Given the description of an element on the screen output the (x, y) to click on. 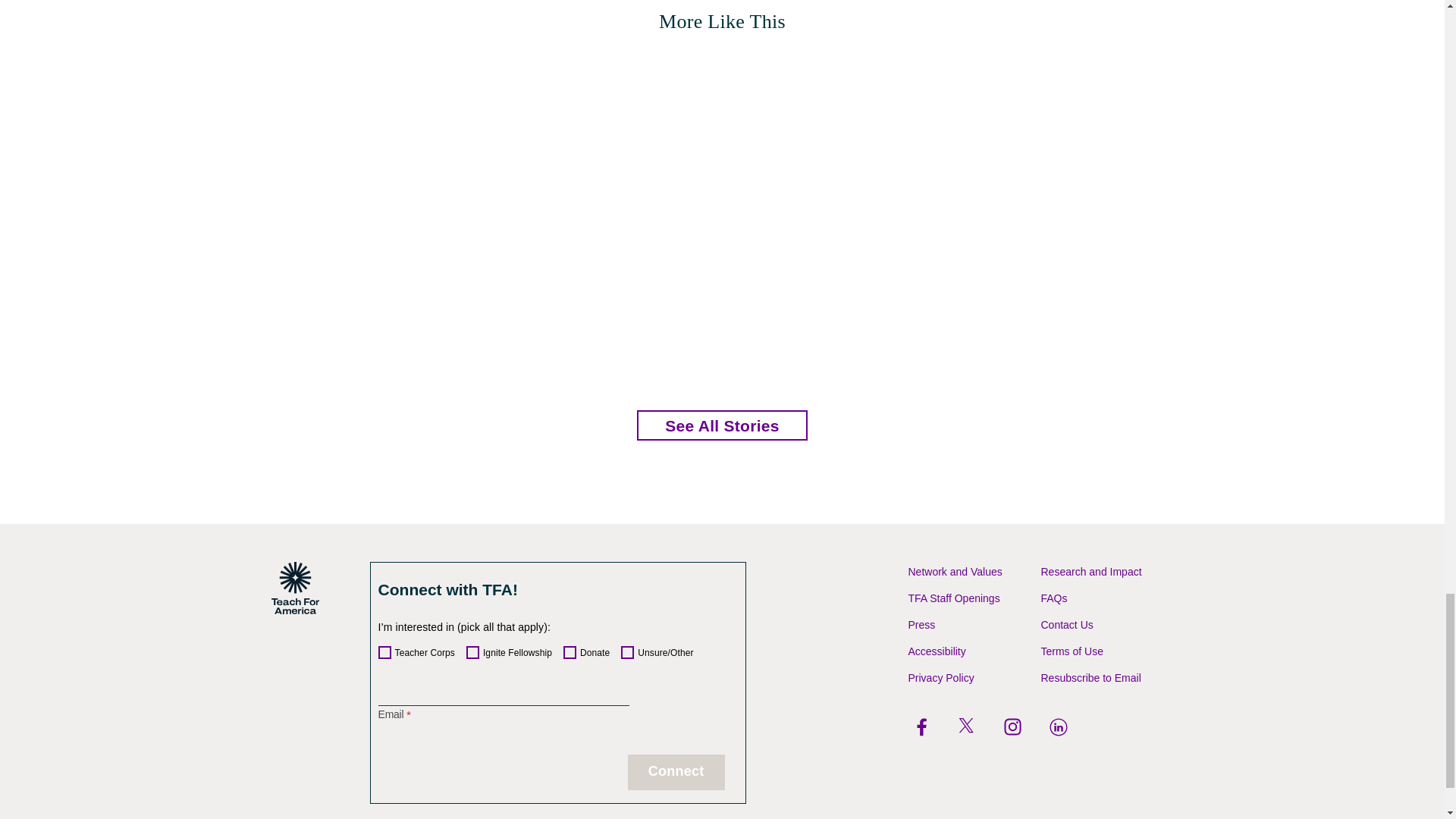
Press (922, 624)
Connect (676, 772)
FAQs (1054, 598)
Connect (676, 772)
Research and Impact (1091, 571)
Network and Values (955, 571)
TFA Staff Openings (954, 598)
See All Stories (721, 425)
